Given the description of an element on the screen output the (x, y) to click on. 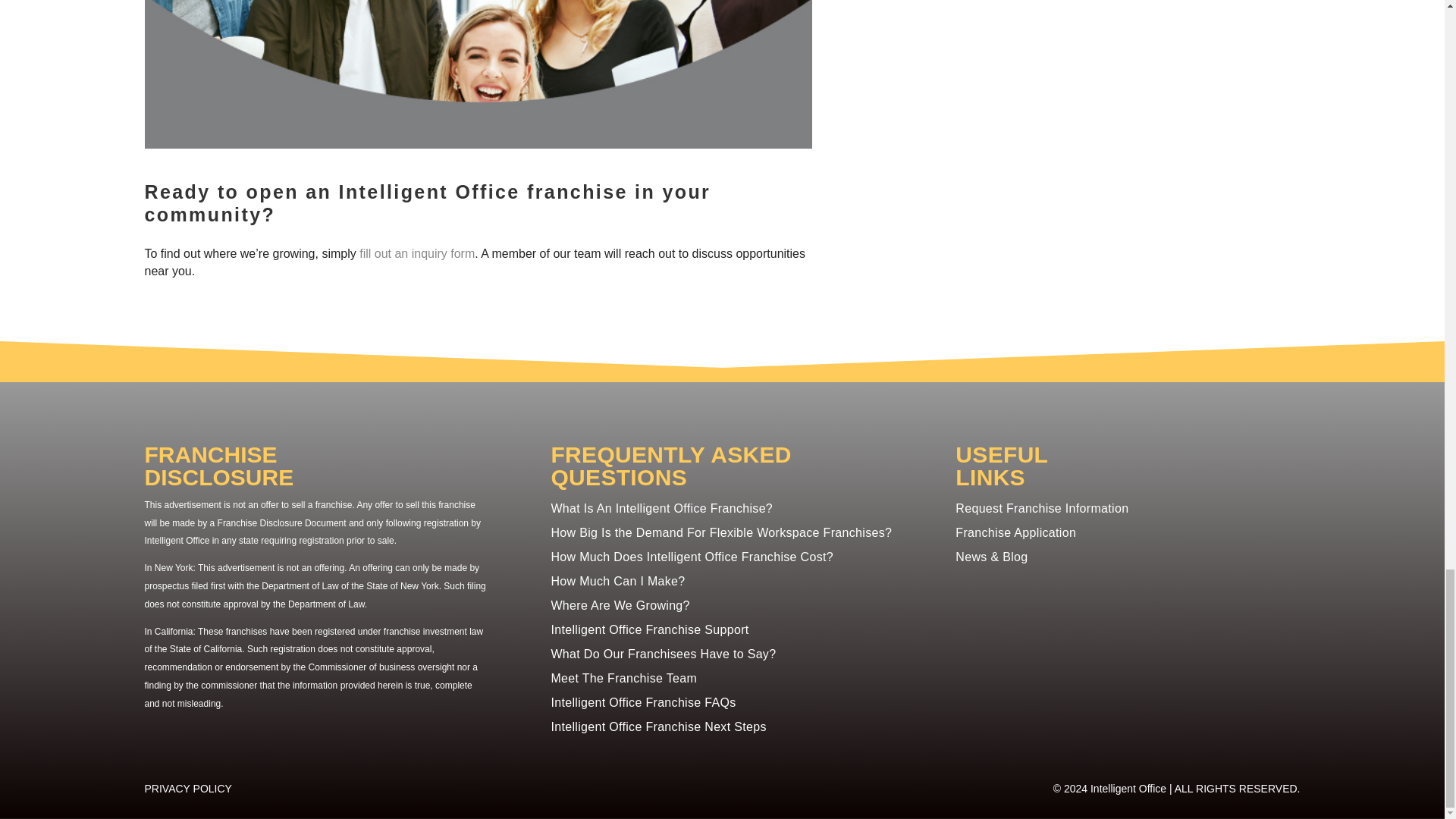
How Big Is the Demand For Flexible Workspace Franchises? (720, 532)
fill out an inquiry form (416, 253)
What Is An Intelligent Office Franchise? (661, 508)
How Much Does Intelligent Office Franchise Cost? (691, 556)
